Given the description of an element on the screen output the (x, y) to click on. 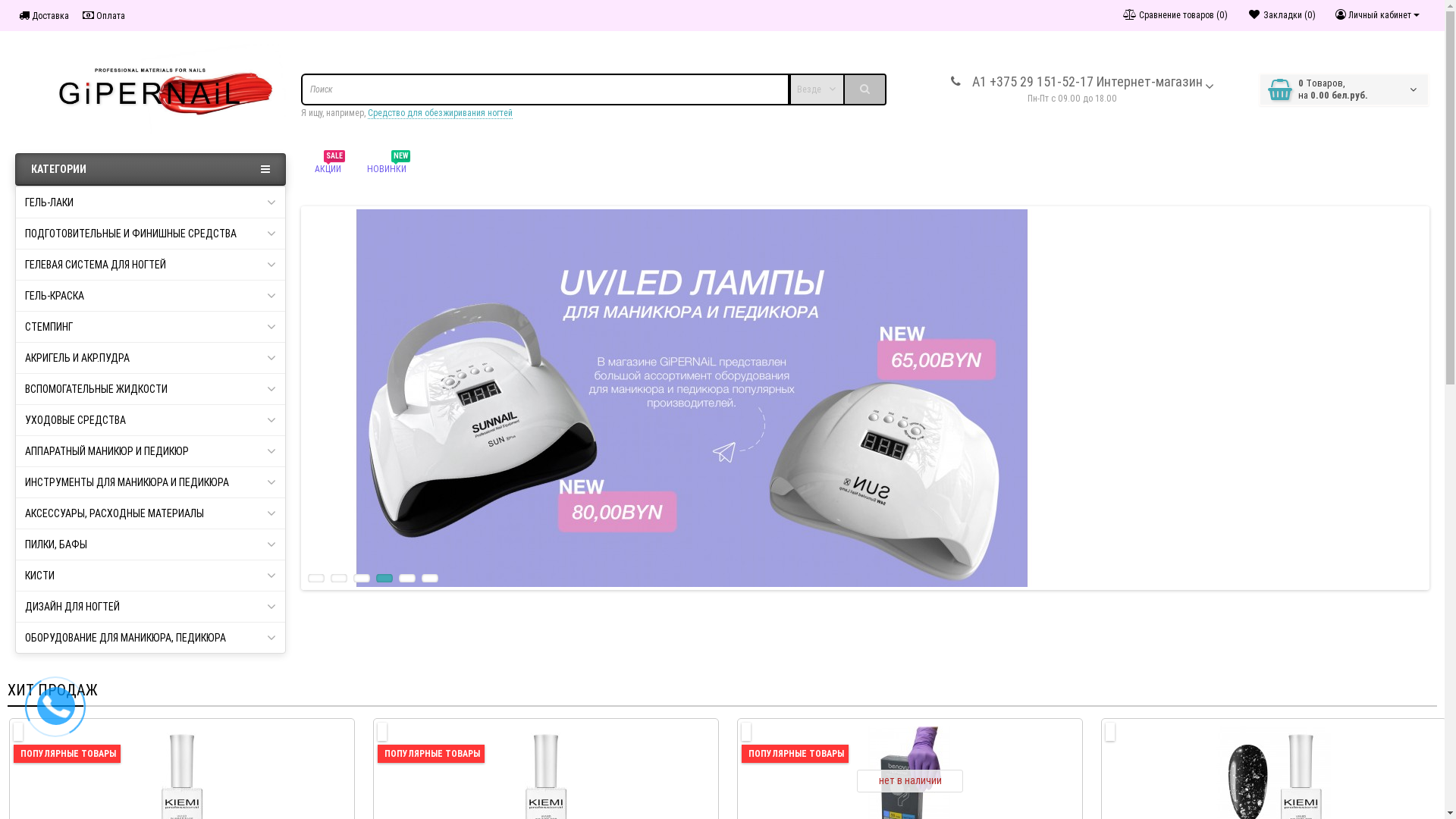
GiperNail Element type: hover (150, 88)
